Given the description of an element on the screen output the (x, y) to click on. 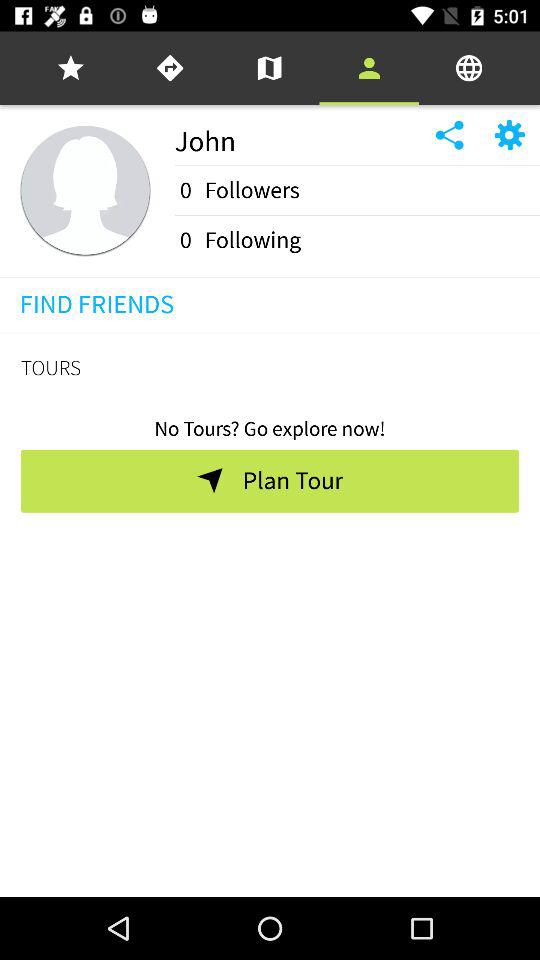
tap icon below the tours icon (269, 422)
